Given the description of an element on the screen output the (x, y) to click on. 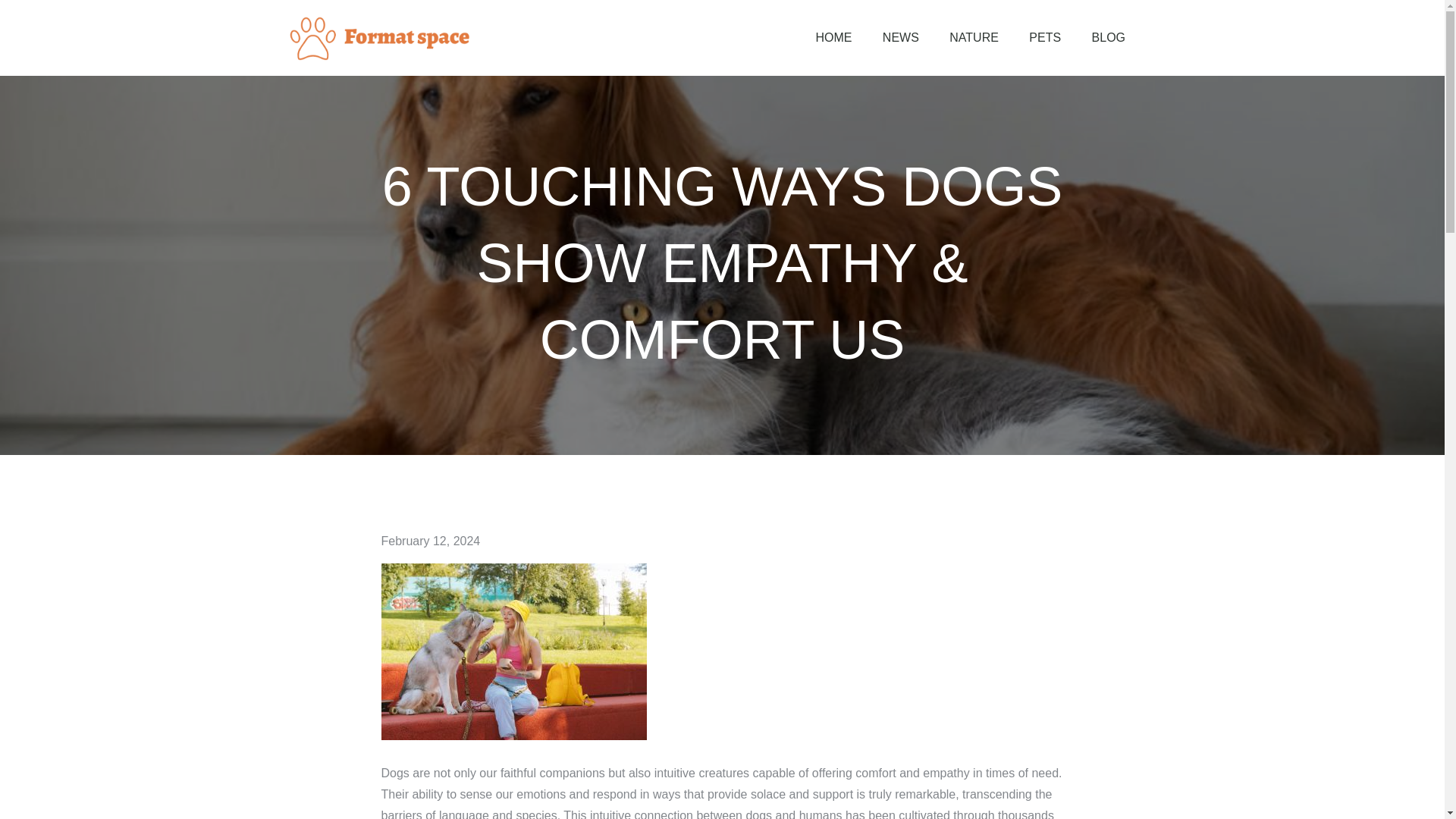
Format space (560, 52)
February 12, 2024 (430, 540)
NATURE (973, 38)
